Given the description of an element on the screen output the (x, y) to click on. 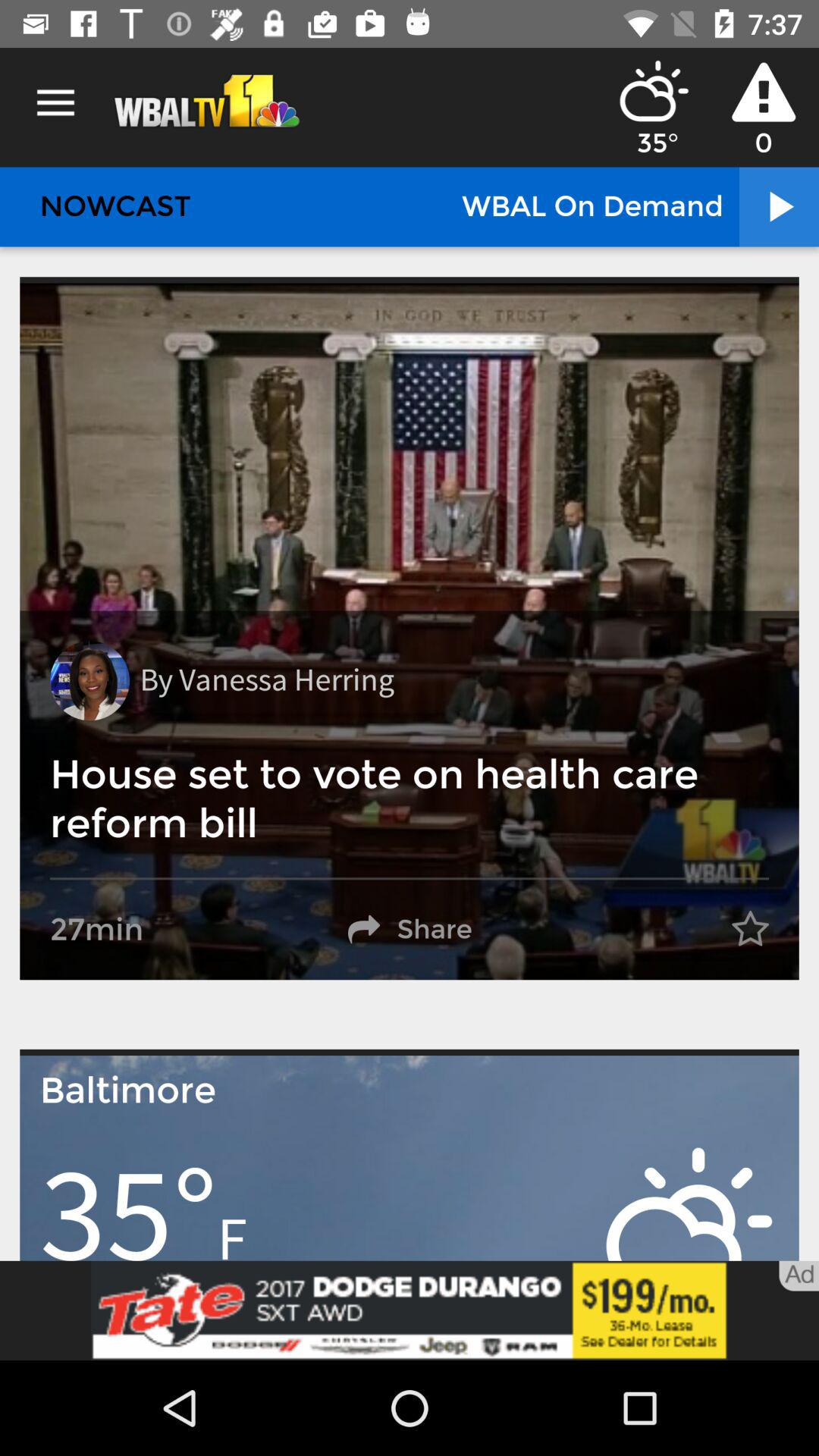
banner advertisement (409, 1310)
